Given the description of an element on the screen output the (x, y) to click on. 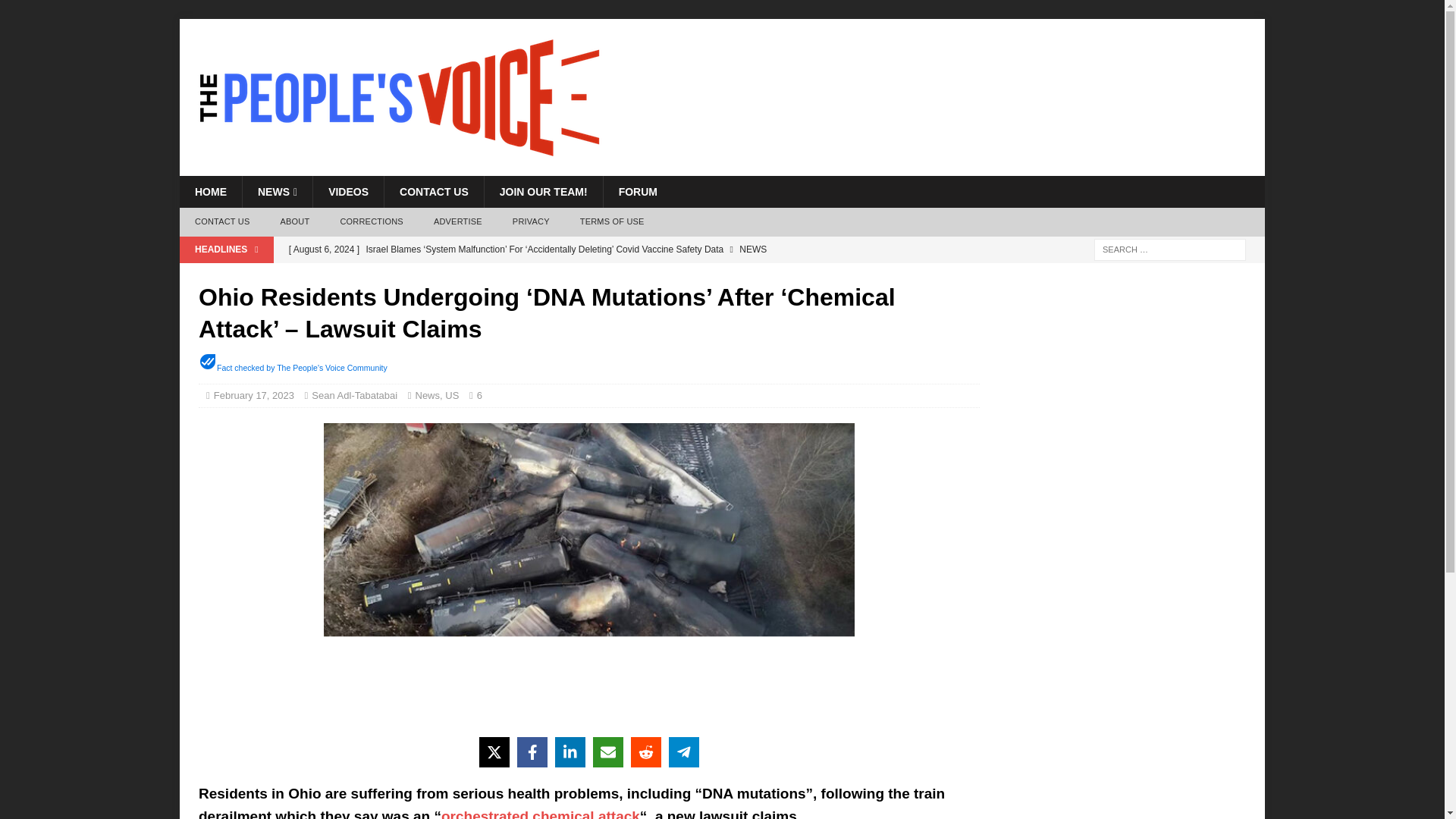
Fact checked by The People's Voice Community (301, 367)
JOIN OUR TEAM! (542, 192)
Sean Adl-Tabatabai (354, 395)
NEWS (277, 192)
CONTACT US (433, 192)
News (427, 395)
US (451, 395)
HOME (210, 192)
TERMS OF USE (611, 222)
CORRECTIONS (370, 222)
PRIVACY (530, 222)
FORUM (637, 192)
VIDEOS (348, 192)
ABOUT (294, 222)
February 17, 2023 (254, 395)
